Given the description of an element on the screen output the (x, y) to click on. 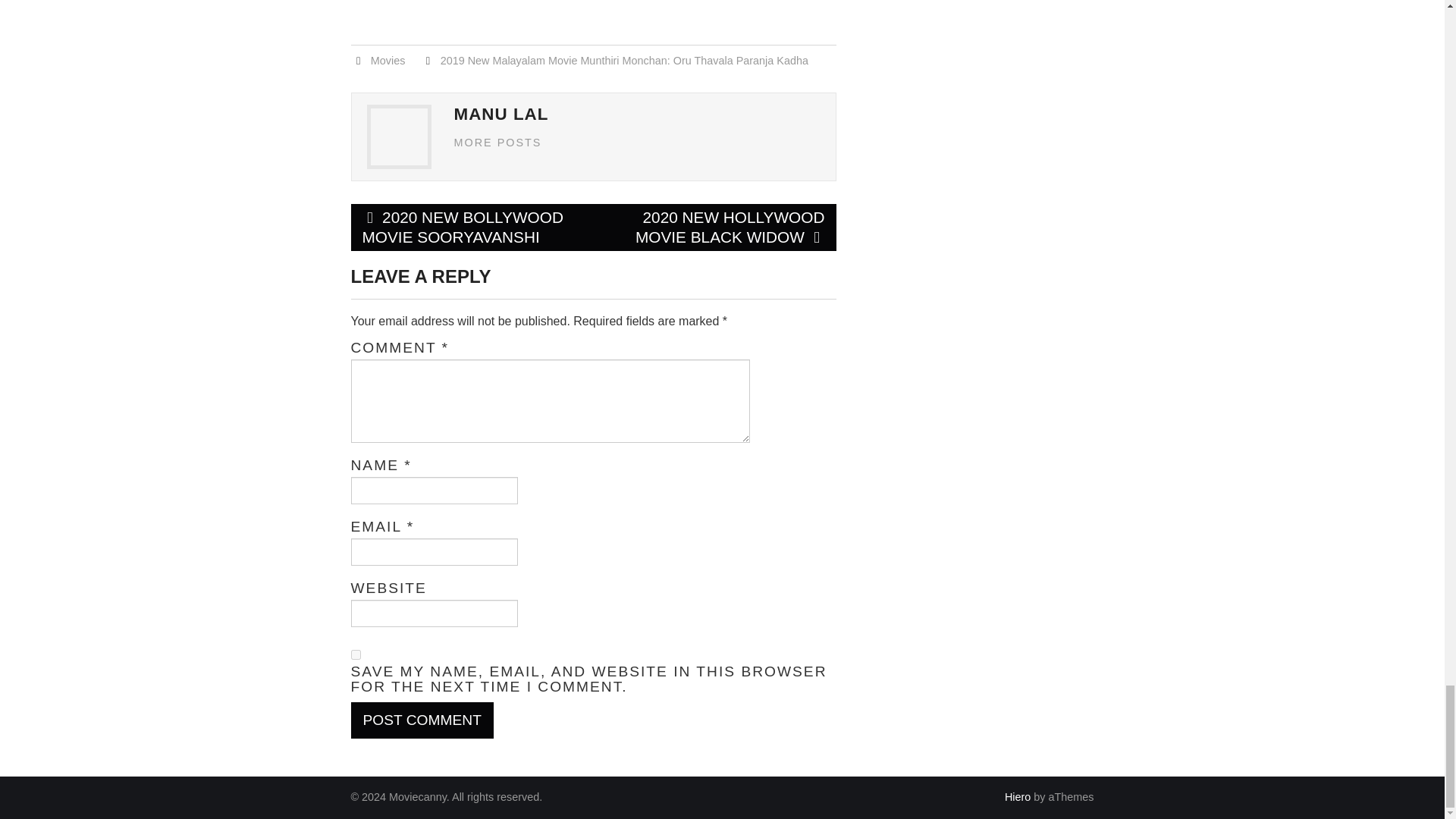
Post Comment (421, 719)
MORE POSTS (496, 142)
Movies (388, 60)
Post Comment (421, 719)
2020 NEW HOLLYWOOD MOVIE BLACK WIDOW (713, 226)
2020 NEW BOLLYWOOD MOVIE SOORYAVANSHI (471, 226)
yes (354, 655)
